Given the description of an element on the screen output the (x, y) to click on. 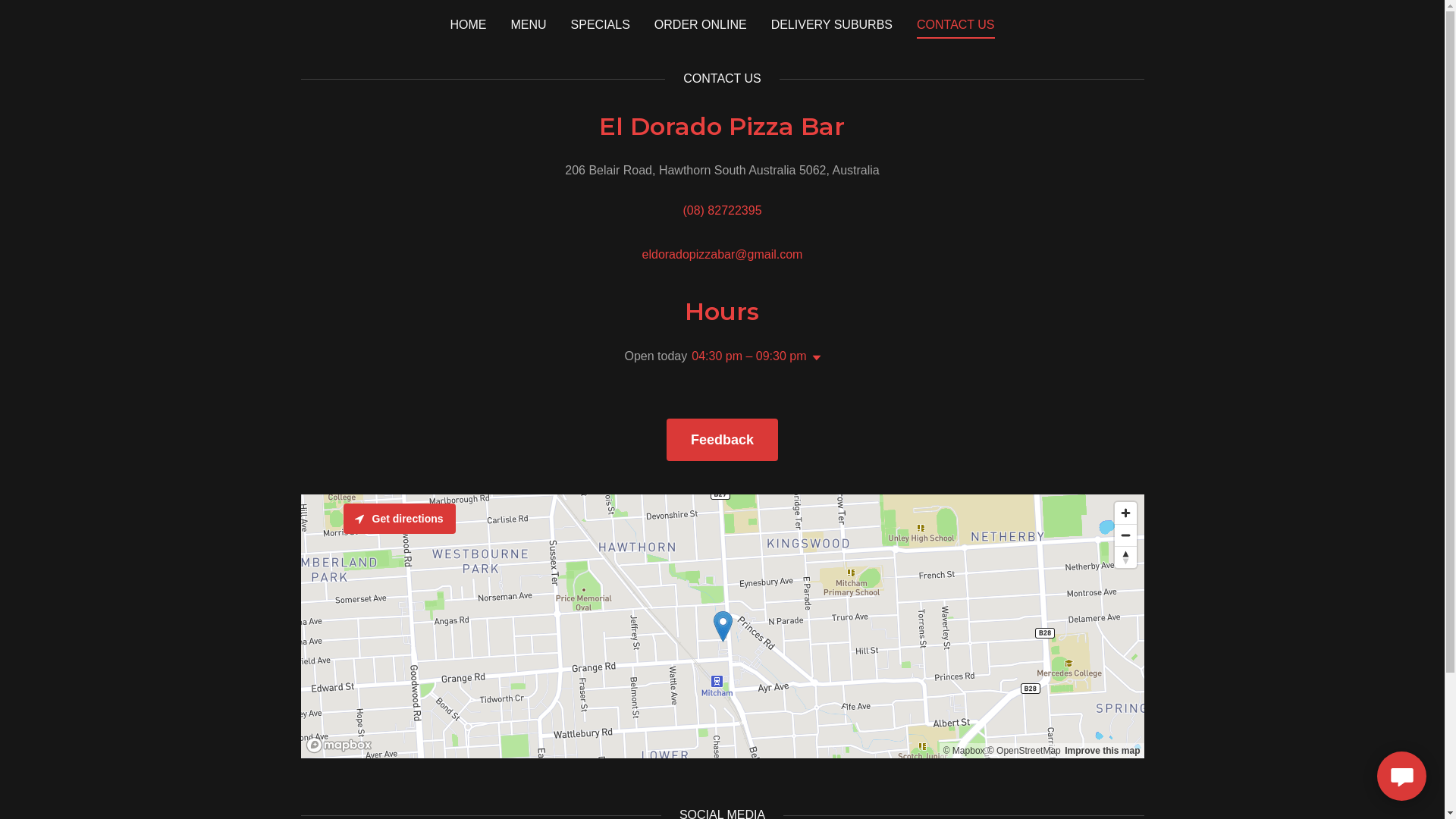
Zoom out Element type: hover (1125, 535)
Zoom in Element type: hover (1125, 513)
DELIVERY SUBURBS Element type: text (831, 24)
eldoradopizzabar@gmail.com Element type: text (722, 253)
HOME Element type: text (467, 24)
ORDER ONLINE Element type: text (700, 24)
(08) 82722395 Element type: text (721, 209)
MENU Element type: text (527, 24)
SPECIALS Element type: text (600, 24)
Feedback Element type: text (722, 439)
Improve this map Element type: text (1101, 750)
Get directions Element type: text (398, 518)
CONTACT US Element type: text (955, 26)
Reset bearing to north Element type: hover (1125, 556)
